Given the description of an element on the screen output the (x, y) to click on. 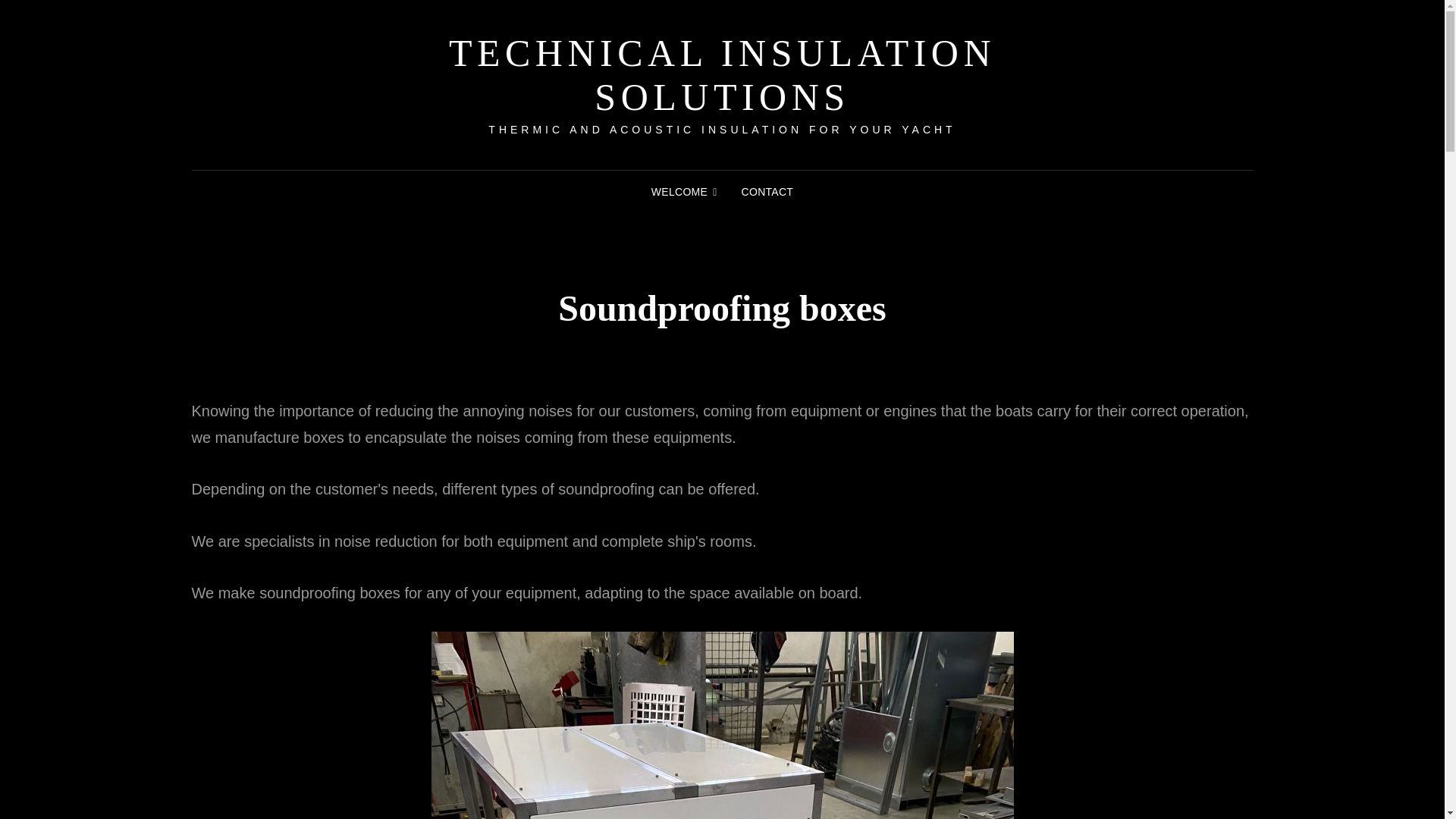
TECHNICAL INSULATION SOLUTIONS (721, 74)
WELCOME (684, 191)
CONTACT (767, 191)
